Given the description of an element on the screen output the (x, y) to click on. 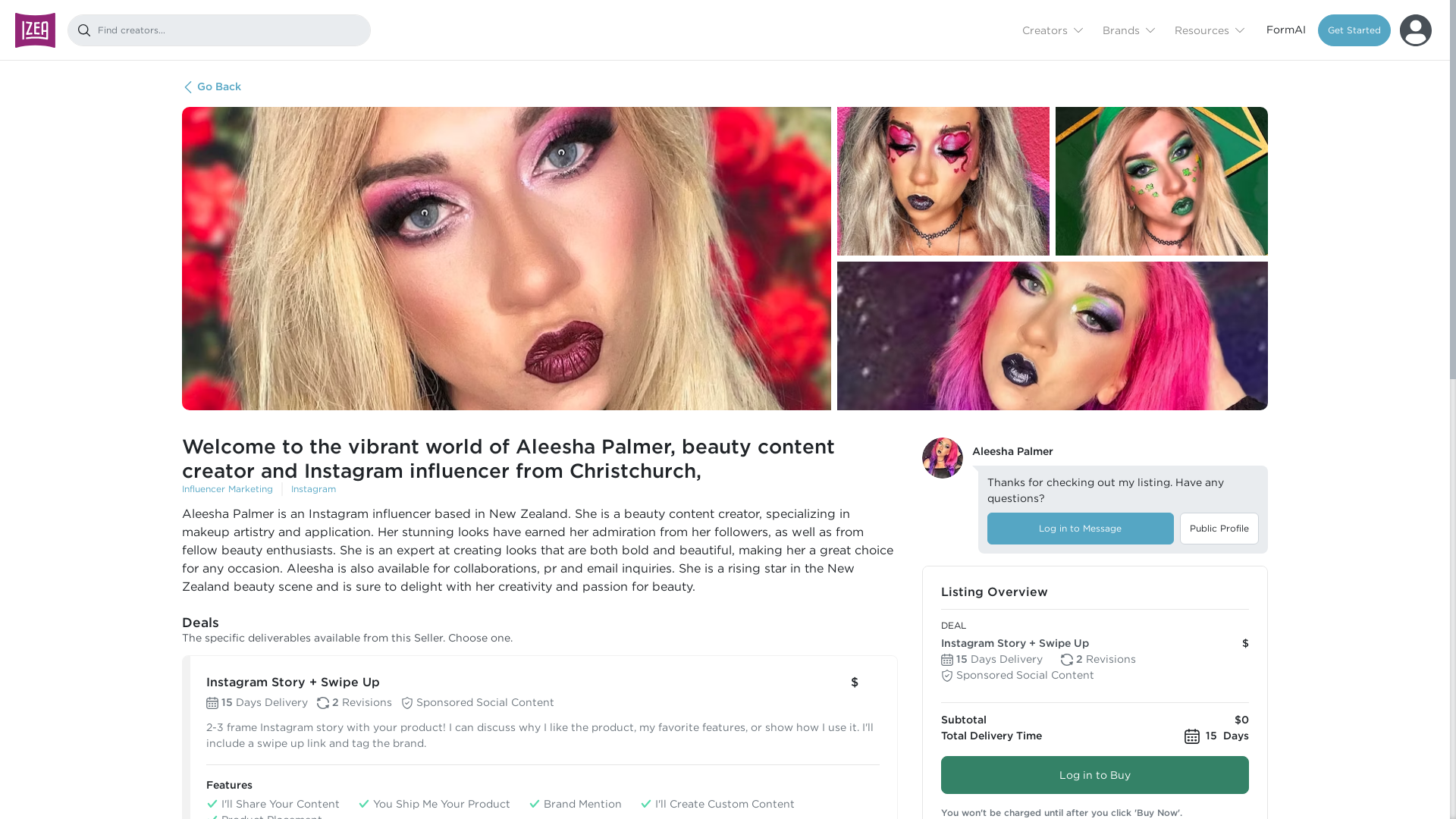
Resources (1208, 29)
Brands (1128, 29)
Creators (1052, 29)
